Given the description of an element on the screen output the (x, y) to click on. 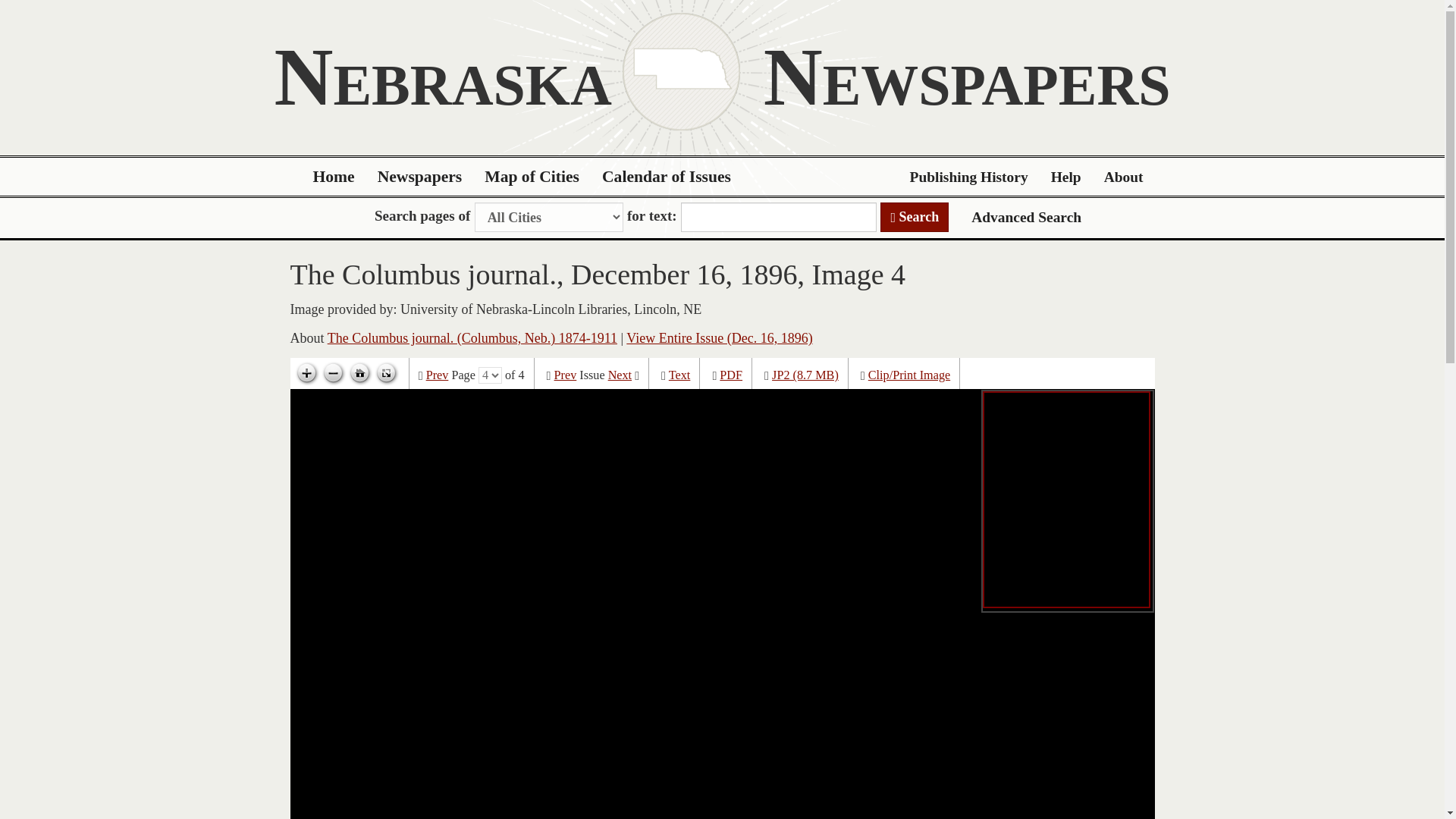
Prev (437, 375)
Home (333, 176)
PDF (730, 375)
Zoom in (307, 373)
Prev (565, 375)
Text (679, 375)
Go home (359, 373)
Calendar of Issues (666, 176)
Toggle full page (385, 373)
Publishing History (968, 176)
Map of Cities (532, 176)
Next (619, 375)
Search (914, 217)
Help (1066, 176)
Zoom out (333, 373)
